Given the description of an element on the screen output the (x, y) to click on. 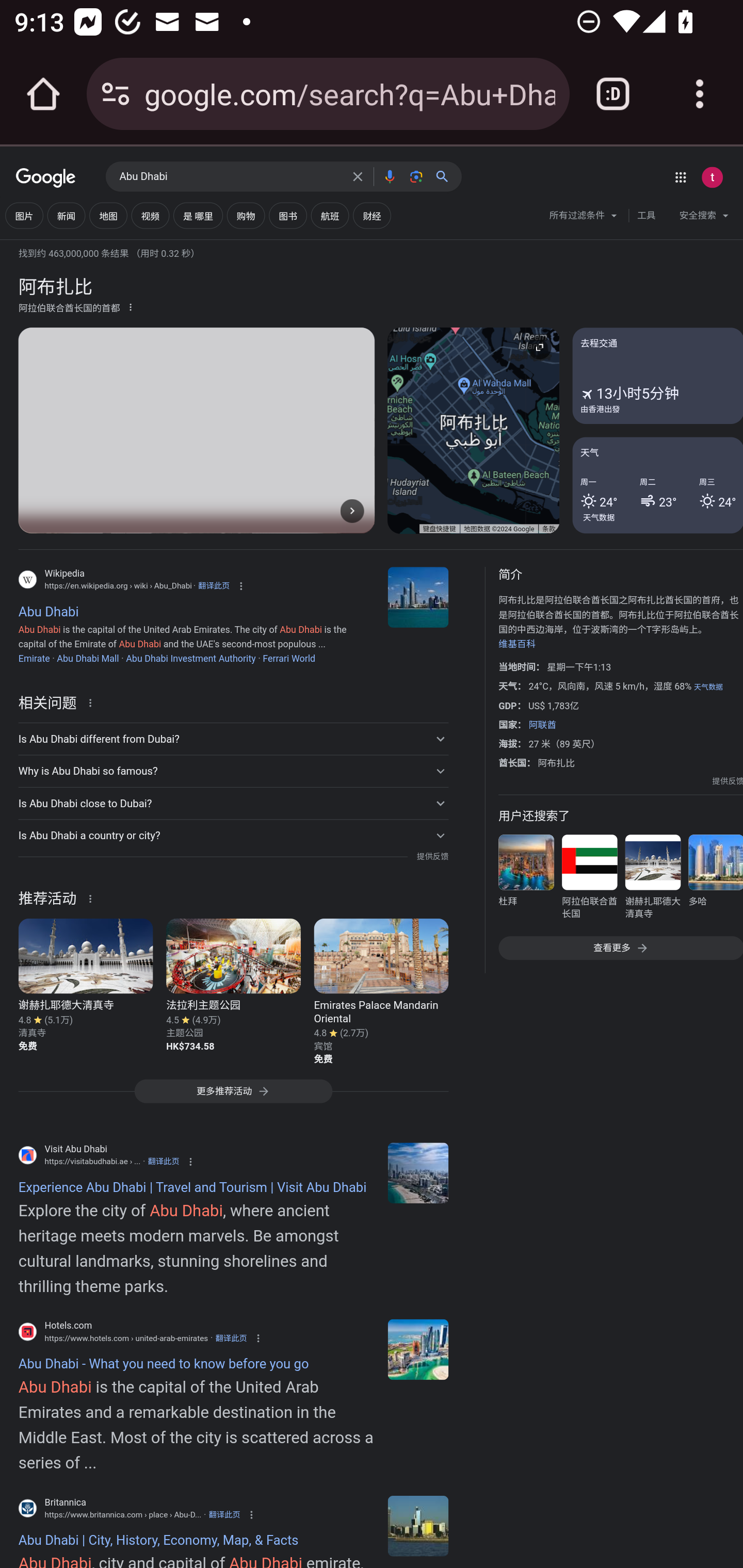
Open the home page (43, 93)
Connection is secure (115, 93)
Switch or close tabs (612, 93)
Customize and control Google Chrome (699, 93)
清除 (357, 176)
按语音搜索 (389, 176)
按图搜索 (415, 176)
搜索 (446, 176)
Google 应用 (680, 176)
Google 账号： test appium (testappium002@gmail.com) (712, 176)
Google (45, 178)
Abu Dhabi (229, 177)
图片 (24, 215)
新闻 (65, 215)
地图 (107, 215)
视频 (149, 215)
添加“是 哪里” 是 哪里 (197, 215)
购物 (245, 215)
图书 (287, 215)
航班 (329, 215)
财经 (371, 215)
所有过滤条件 (583, 217)
工具 (646, 215)
安全搜索 (703, 217)
更多选项 (130, 306)
去程交通 13小时5分钟 乘坐飞机 由香港出發 (657, 375)
展开地图 (539, 346)
天气 周一 高温 24 度 周二 高温 23 度 周三 高温 24 度 (657, 484)
下一张图片 (352, 510)
天气数据 (599, 516)
Abu_Dhabi (417, 597)
翻译此页 (213, 585)
维基百科 (516, 643)
Emirate (33, 658)
Abu Dhabi Mall (87, 658)
Abu Dhabi Investment Authority (190, 658)
Ferrari World (288, 658)
天气数据 (708, 687)
关于这条结果的详细信息 (93, 701)
阿联酋 (541, 724)
Is Abu Dhabi different from Dubai? (232, 738)
Why is Abu Dhabi so famous? (232, 770)
提供反馈 (727, 781)
Is Abu Dhabi close to Dubai? (232, 803)
Is Abu Dhabi a country or city? (232, 835)
杜拜 (526, 880)
阿拉伯联合酋长国 (588, 880)
谢赫扎耶德大清真寺 (652, 880)
多哈 (715, 880)
提供反馈 (432, 856)
关于这条结果的详细信息 (93, 897)
查看更多 查看更多 查看更多 (620, 947)
更多推荐活动 (232, 1096)
en (417, 1172)
翻译此页 (163, 1161)
abu-dhabi (417, 1348)
翻译此页 (230, 1338)
Abu-Dhabi (417, 1526)
翻译此页 (224, 1514)
